Given the description of an element on the screen output the (x, y) to click on. 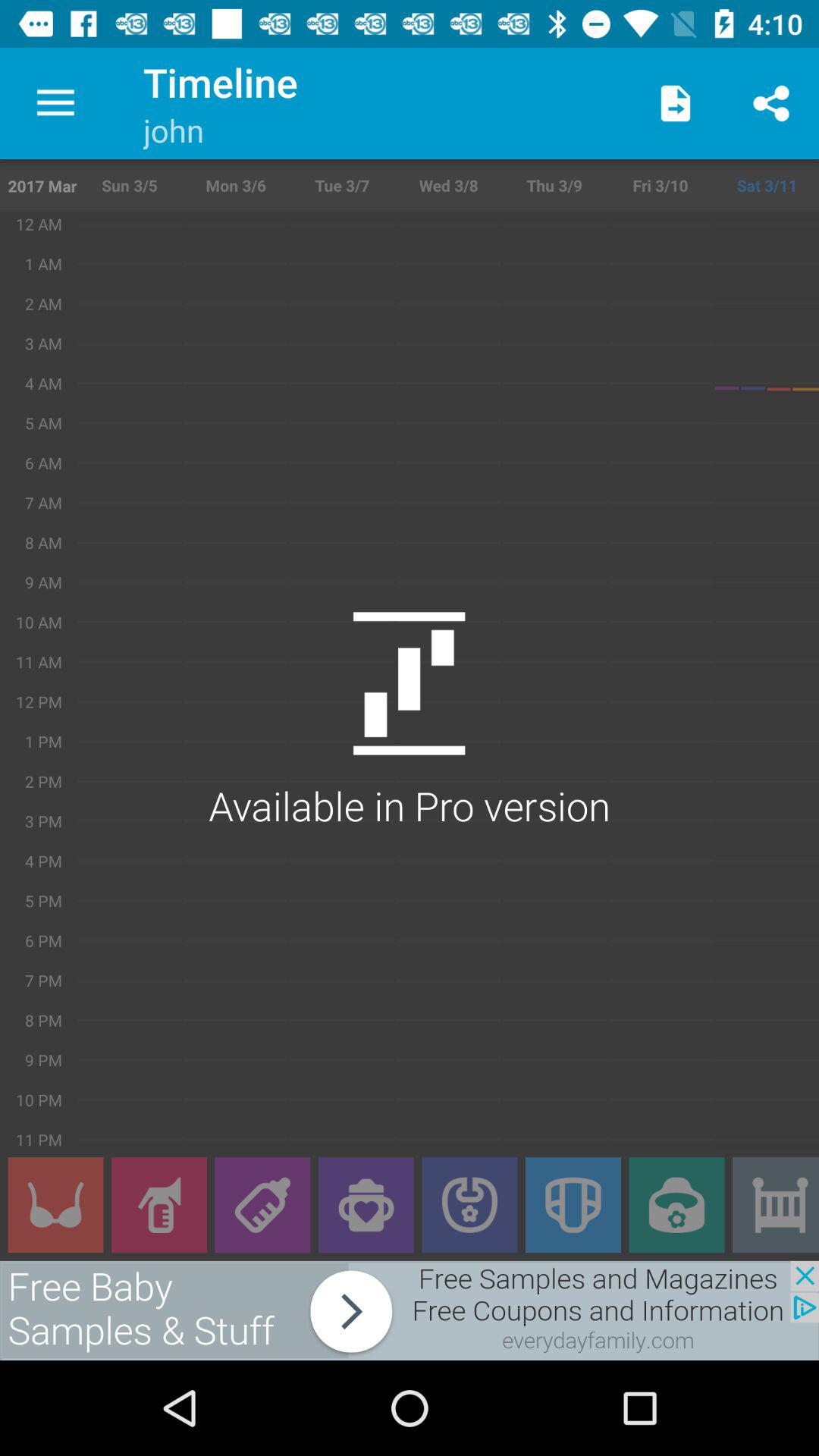
bottles (262, 1204)
